Given the description of an element on the screen output the (x, y) to click on. 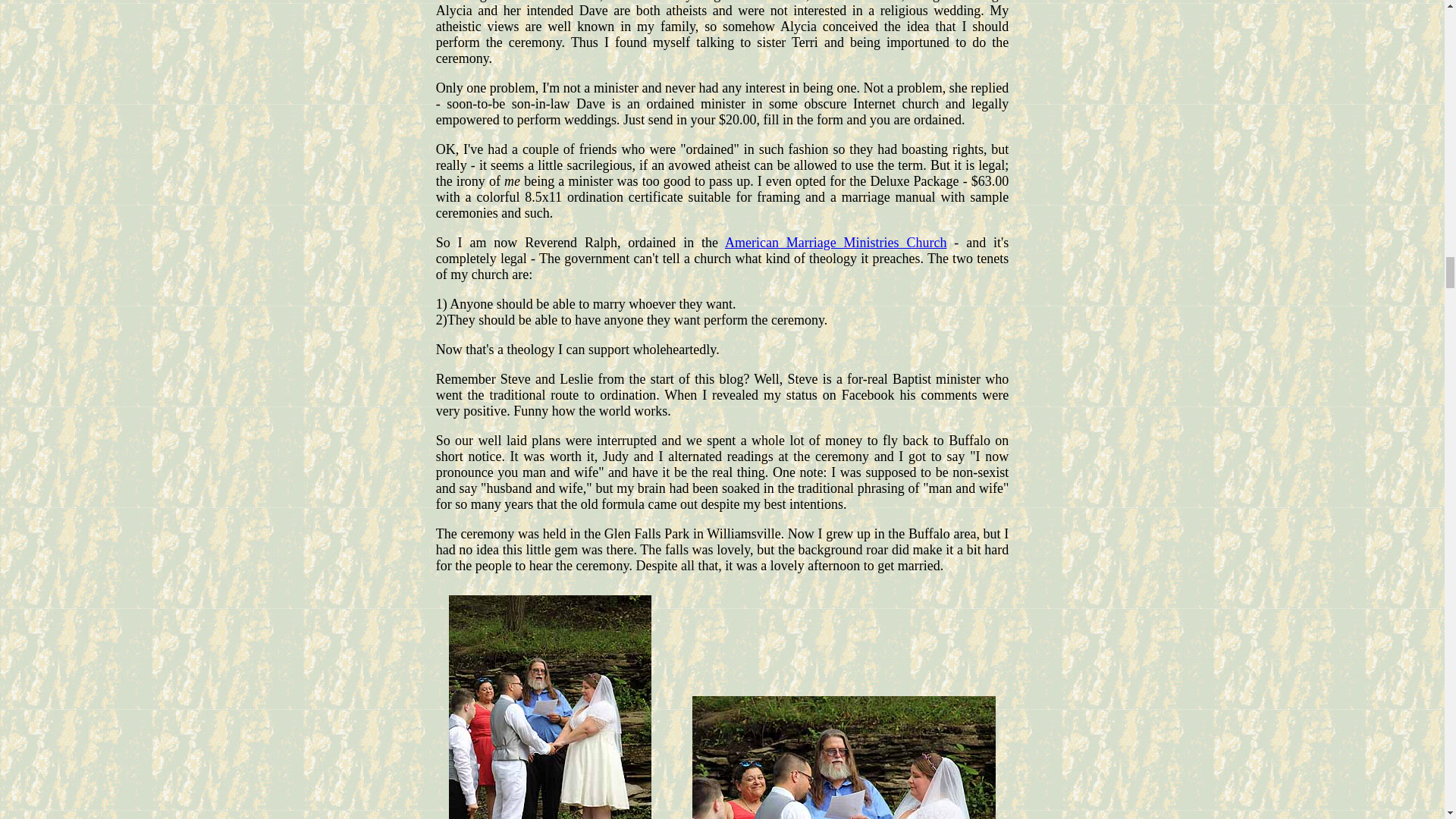
American Marriage Ministries Church (836, 242)
